Given the description of an element on the screen output the (x, y) to click on. 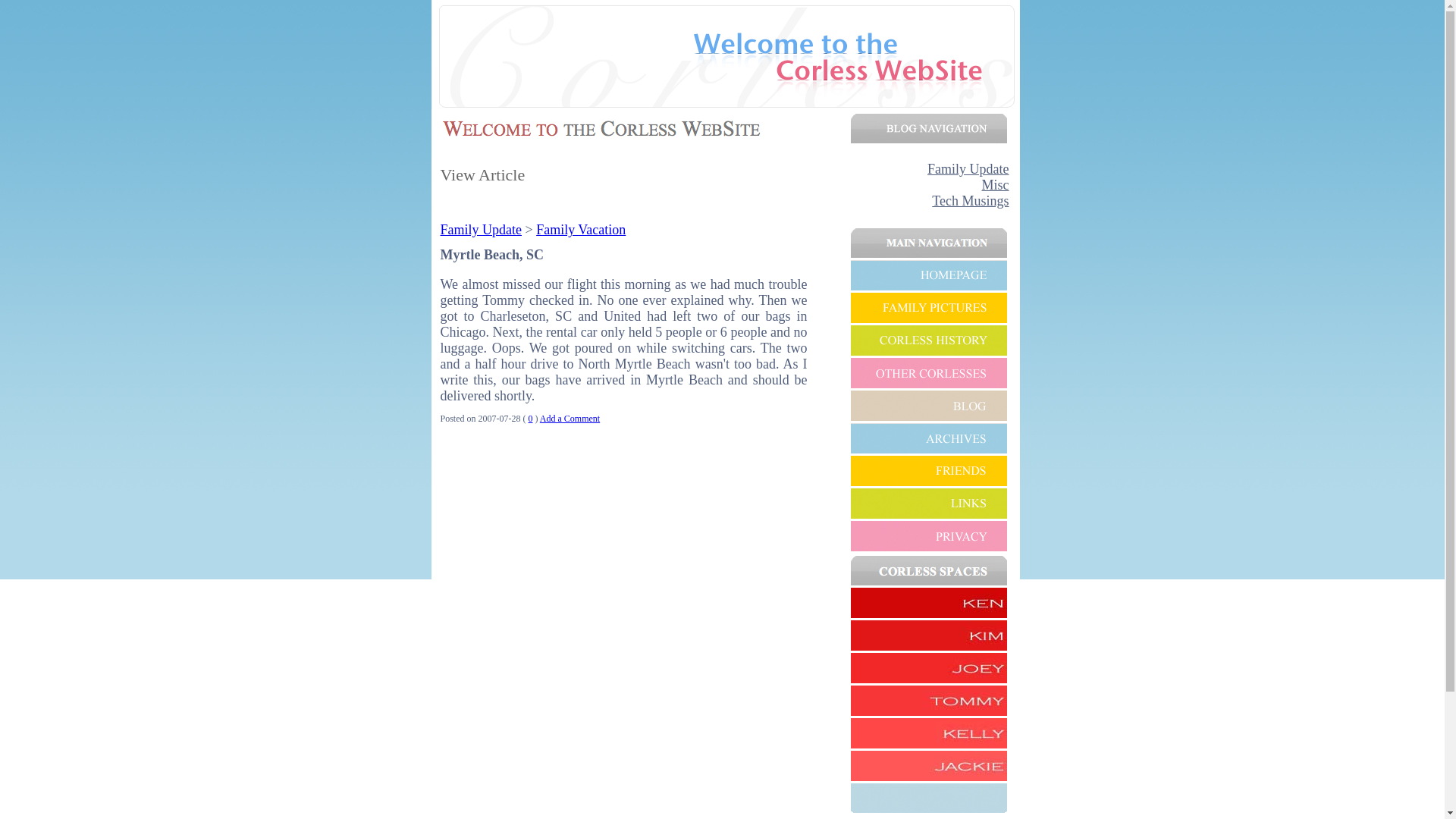
Add a Comment (569, 418)
Family Update (968, 168)
Family Update (480, 229)
Tech Musings (970, 200)
Family Vacation (580, 229)
Misc (995, 184)
